Given the description of an element on the screen output the (x, y) to click on. 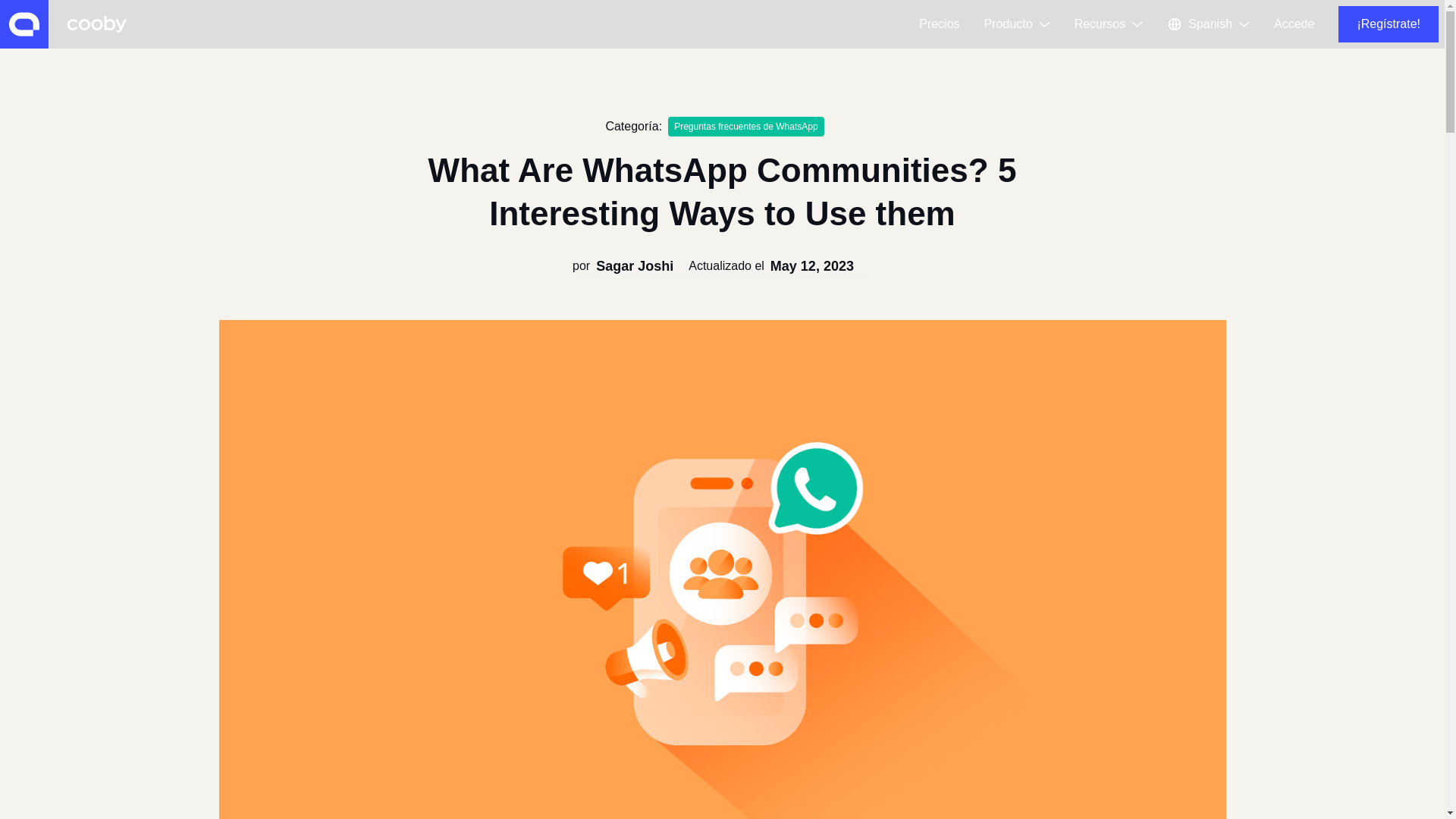
Precios (939, 24)
Accede (1294, 24)
